Given the description of an element on the screen output the (x, y) to click on. 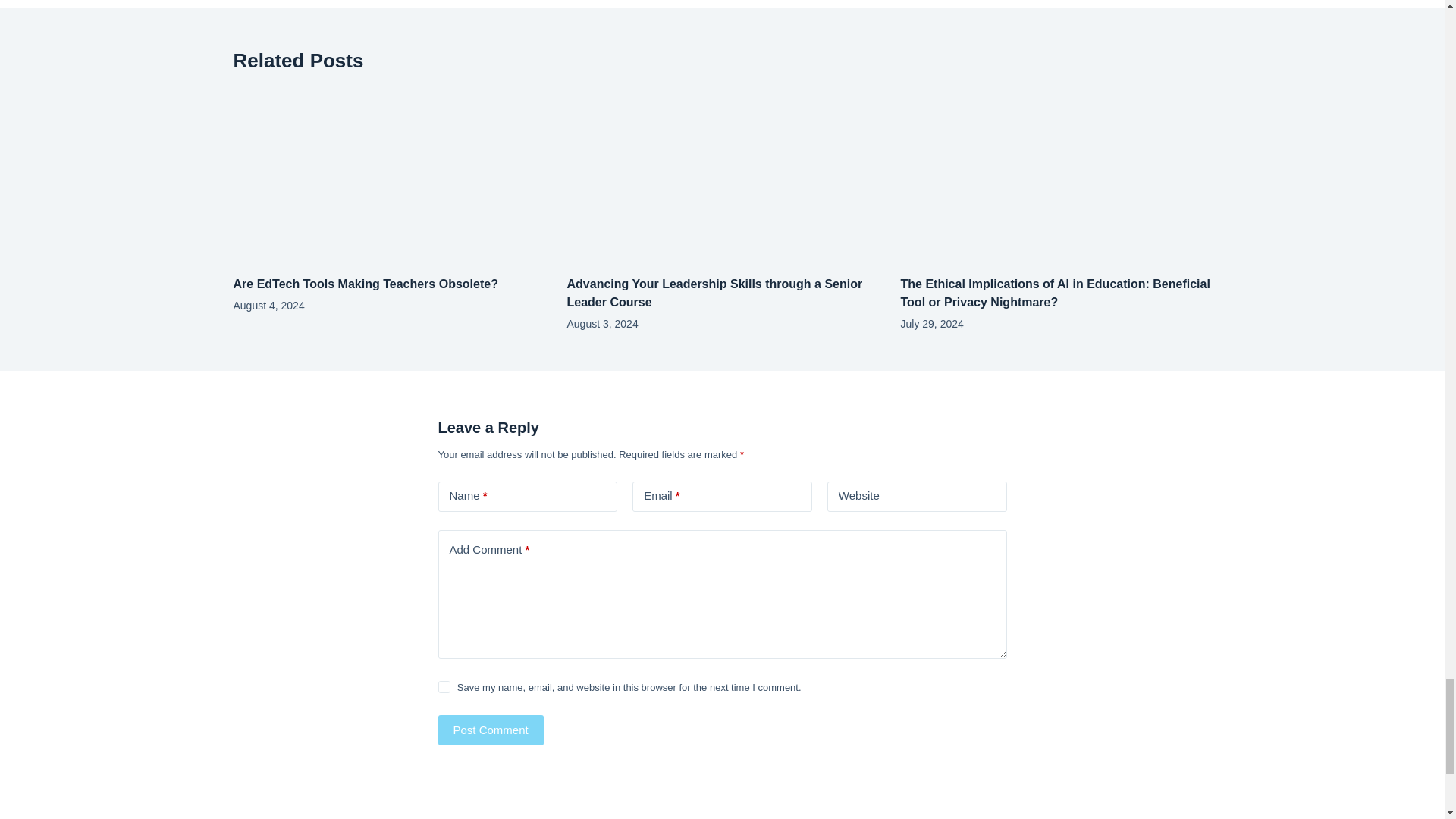
yes (443, 686)
